Given the description of an element on the screen output the (x, y) to click on. 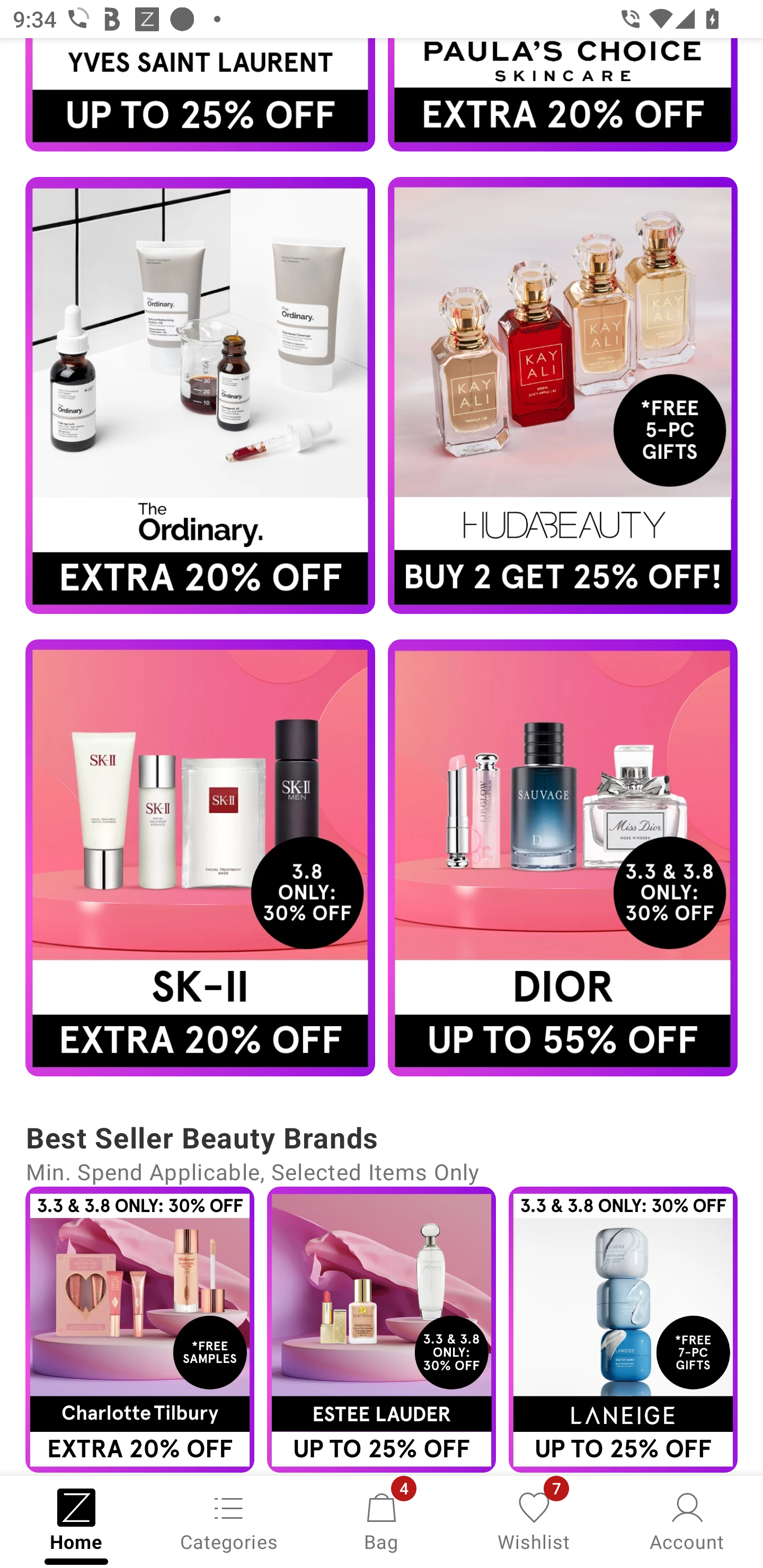
Campaign banner (200, 94)
Campaign banner (562, 94)
Campaign banner (200, 395)
Campaign banner (562, 395)
Campaign banner (200, 857)
Campaign banner (562, 857)
Campaign banner (139, 1329)
Campaign banner (381, 1329)
Campaign banner (622, 1329)
Categories (228, 1519)
Bag, 4 new notifications Bag (381, 1519)
Wishlist, 7 new notifications Wishlist (533, 1519)
Account (686, 1519)
